Given the description of an element on the screen output the (x, y) to click on. 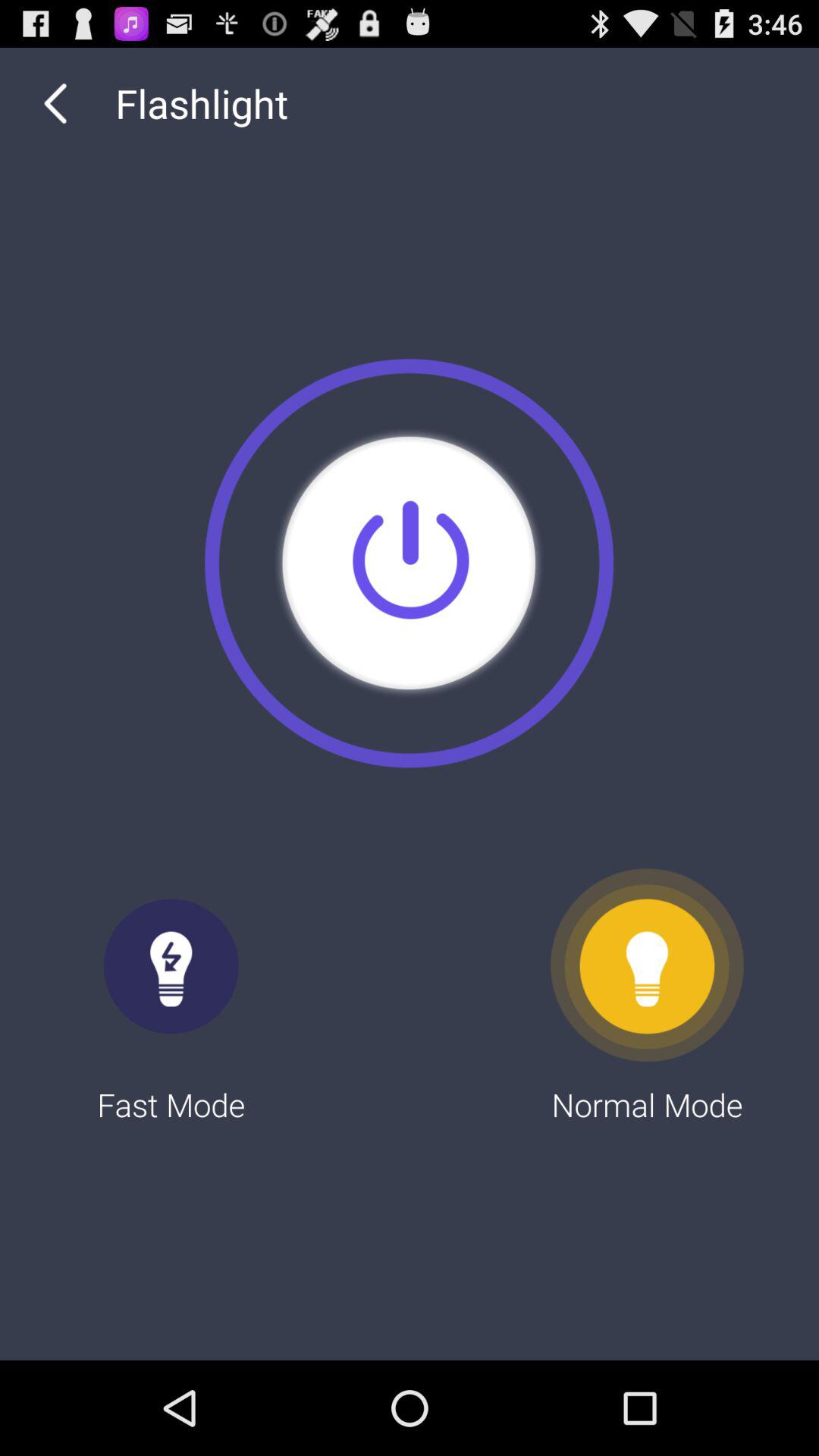
tap the normal mode item (647, 996)
